Given the description of an element on the screen output the (x, y) to click on. 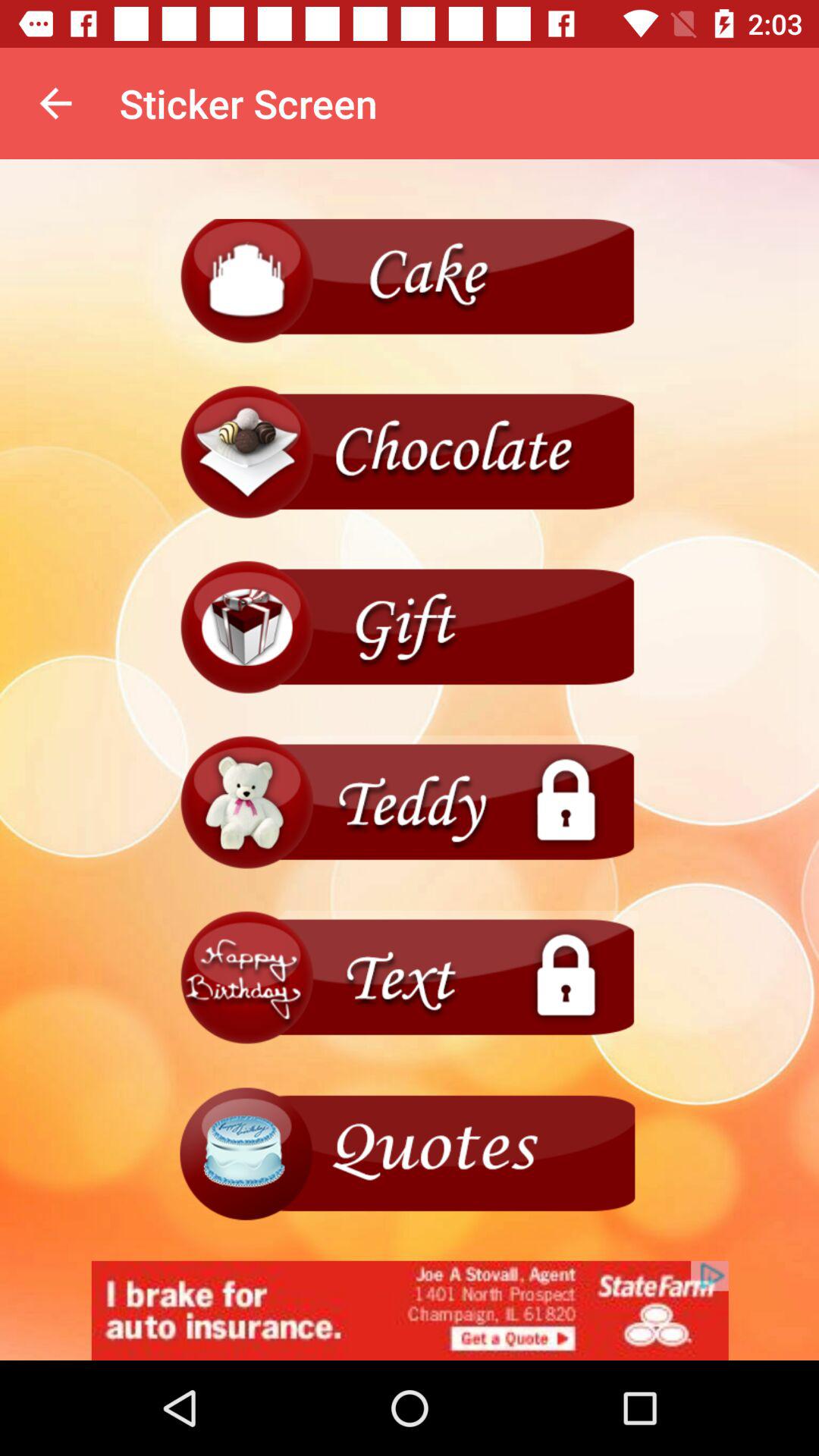
menu page (409, 1153)
